Given the description of an element on the screen output the (x, y) to click on. 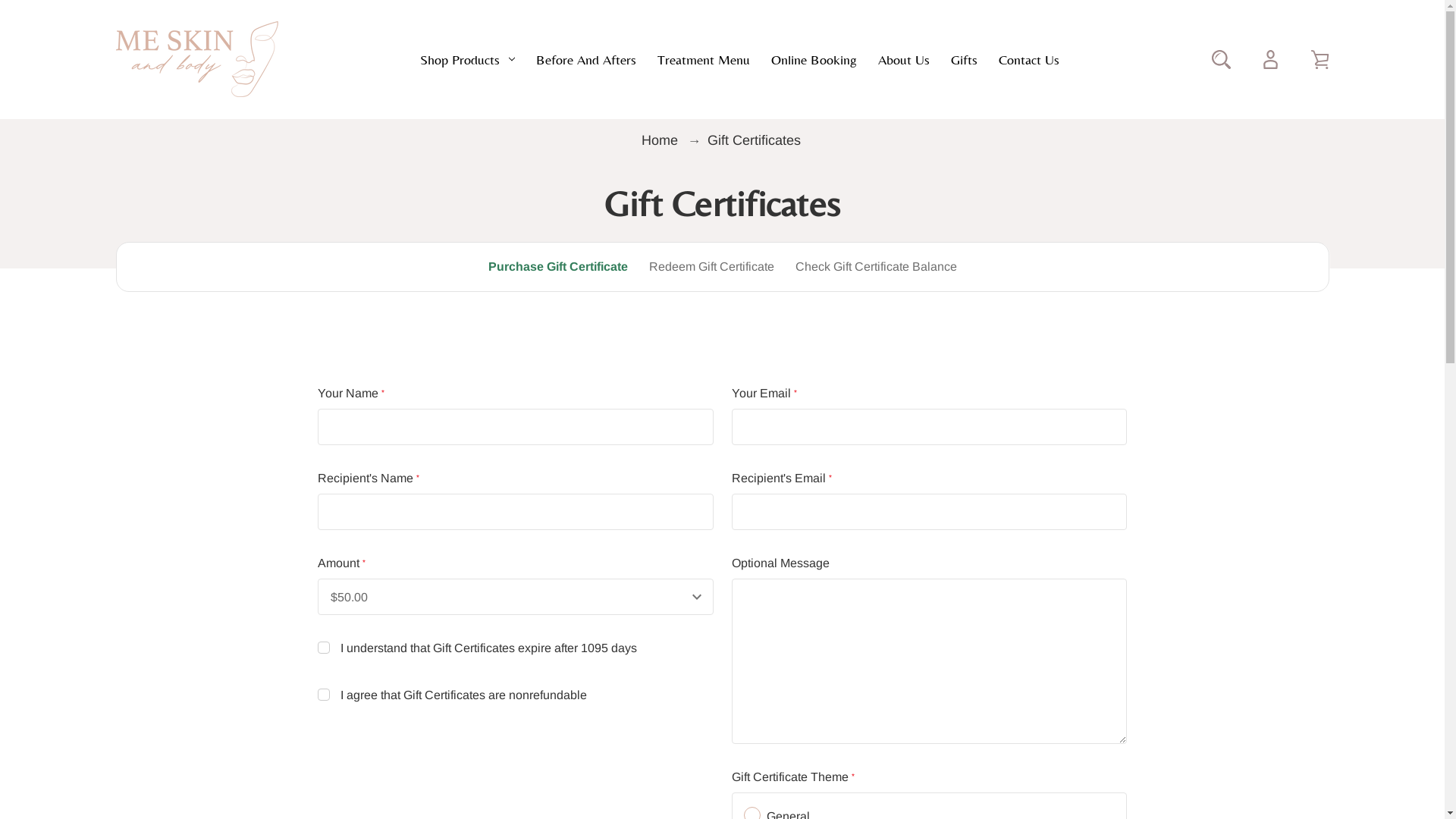
Home Element type: text (661, 139)
Treatment Menu Element type: text (702, 58)
Cart with 0 items Element type: hover (1319, 59)
Me Skin And Body Element type: hover (196, 59)
Before And Afters Element type: text (585, 58)
Check Gift Certificate Balance Element type: text (875, 266)
Gift Certificates Element type: text (753, 139)
Shop Products Element type: text (467, 58)
Contact Us Element type: text (1027, 58)
About Us Element type: text (903, 58)
Gifts Element type: text (963, 58)
Redeem Gift Certificate Element type: text (711, 266)
Online Booking Element type: text (813, 58)
User Account Element type: hover (1269, 59)
